Given the description of an element on the screen output the (x, y) to click on. 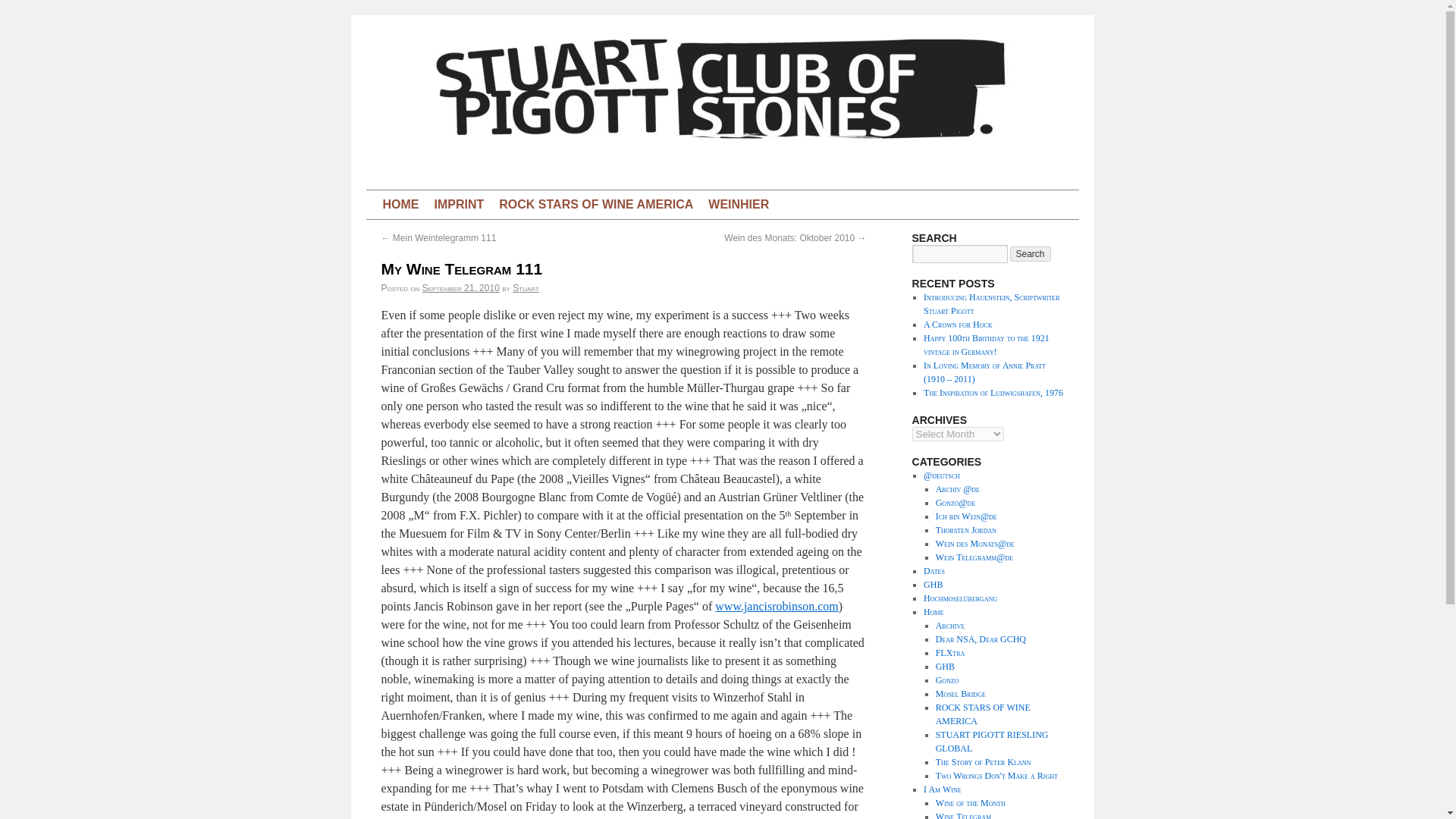
Search (1030, 253)
Thorsten Jordan (965, 529)
FLXtra (950, 652)
Home (933, 611)
Happy 100th Birthday to the 1921 vintage in Germany! (986, 344)
The Inspiration of Ludwigshafen, 1976 (992, 392)
Archive (949, 624)
Introducing Hauenstein, Scriptwriter Stuart Pigott (991, 303)
Mosel Bridge (960, 693)
September 21, 2010 (460, 287)
Search (1030, 253)
Dear NSA, Dear GCHQ (981, 638)
GHB (932, 584)
GHB (945, 665)
www.jancisrobinson.com (776, 605)
